Given the description of an element on the screen output the (x, y) to click on. 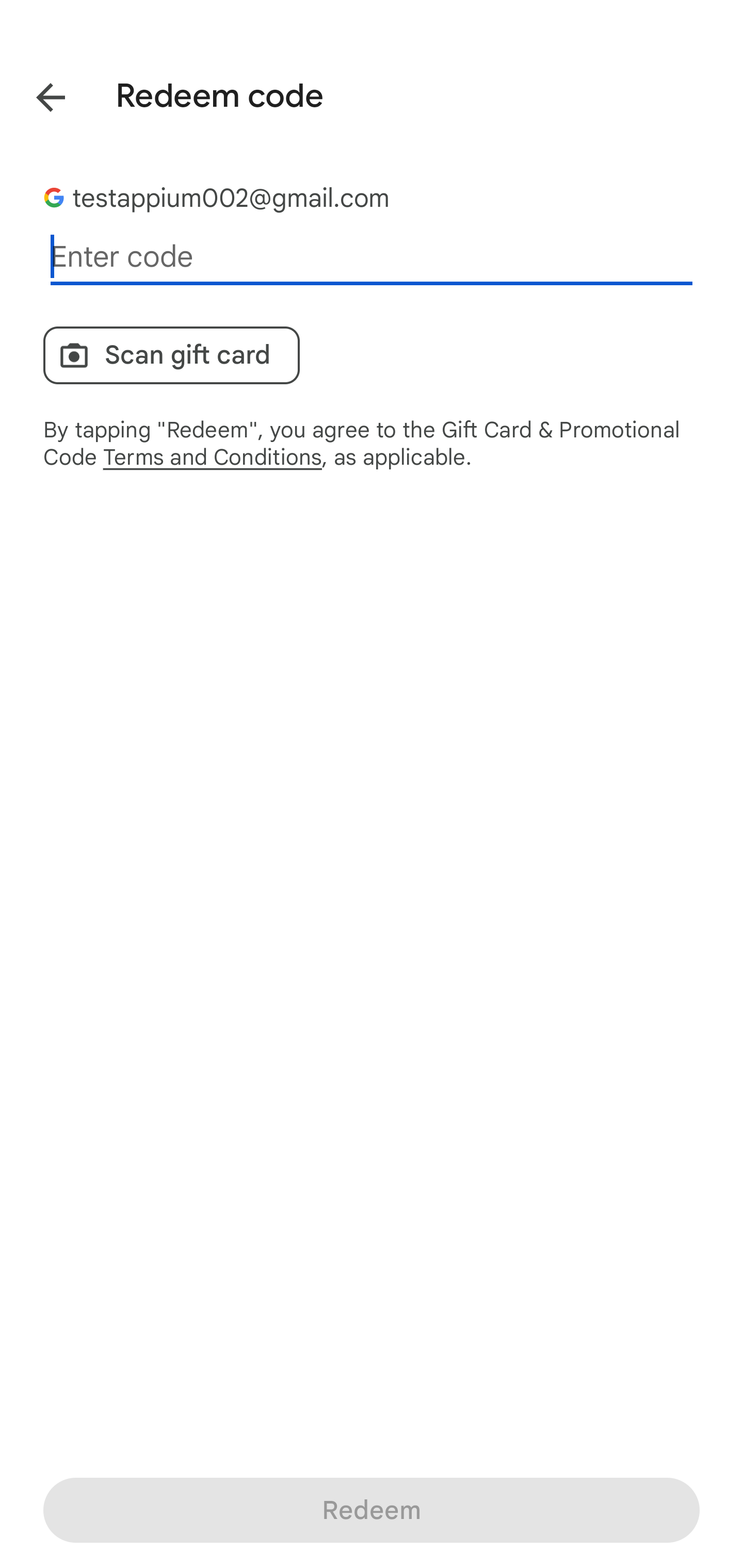
Back (36, 94)
Enter code (371, 256)
Scan gift card (171, 355)
